Given the description of an element on the screen output the (x, y) to click on. 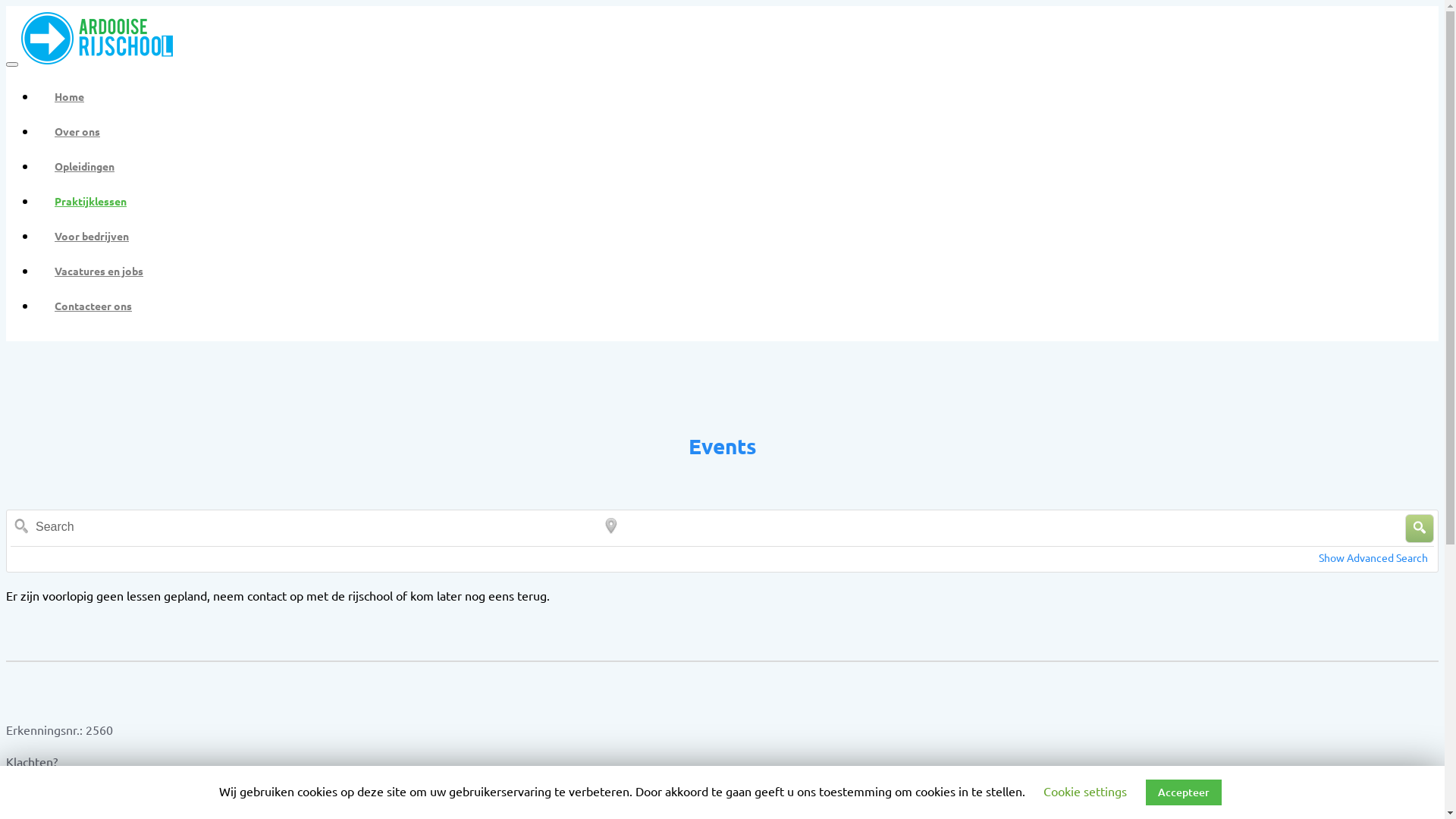
Over ons Element type: text (746, 130)
Contacteer ons Element type: text (746, 305)
Voor bedrijven Element type: text (746, 235)
Vacatures en jobs Element type: text (746, 270)
Praktijklessen Element type: text (746, 200)
Accepteer Element type: text (1183, 792)
Opleidingen Element type: text (746, 165)
Show Advanced Search Element type: text (1372, 557)
Cookie settings Element type: text (1084, 790)
Home Element type: text (746, 95)
erik.bogaert@ardooiseautorijschool.be Element type: text (221, 780)
